Given the description of an element on the screen output the (x, y) to click on. 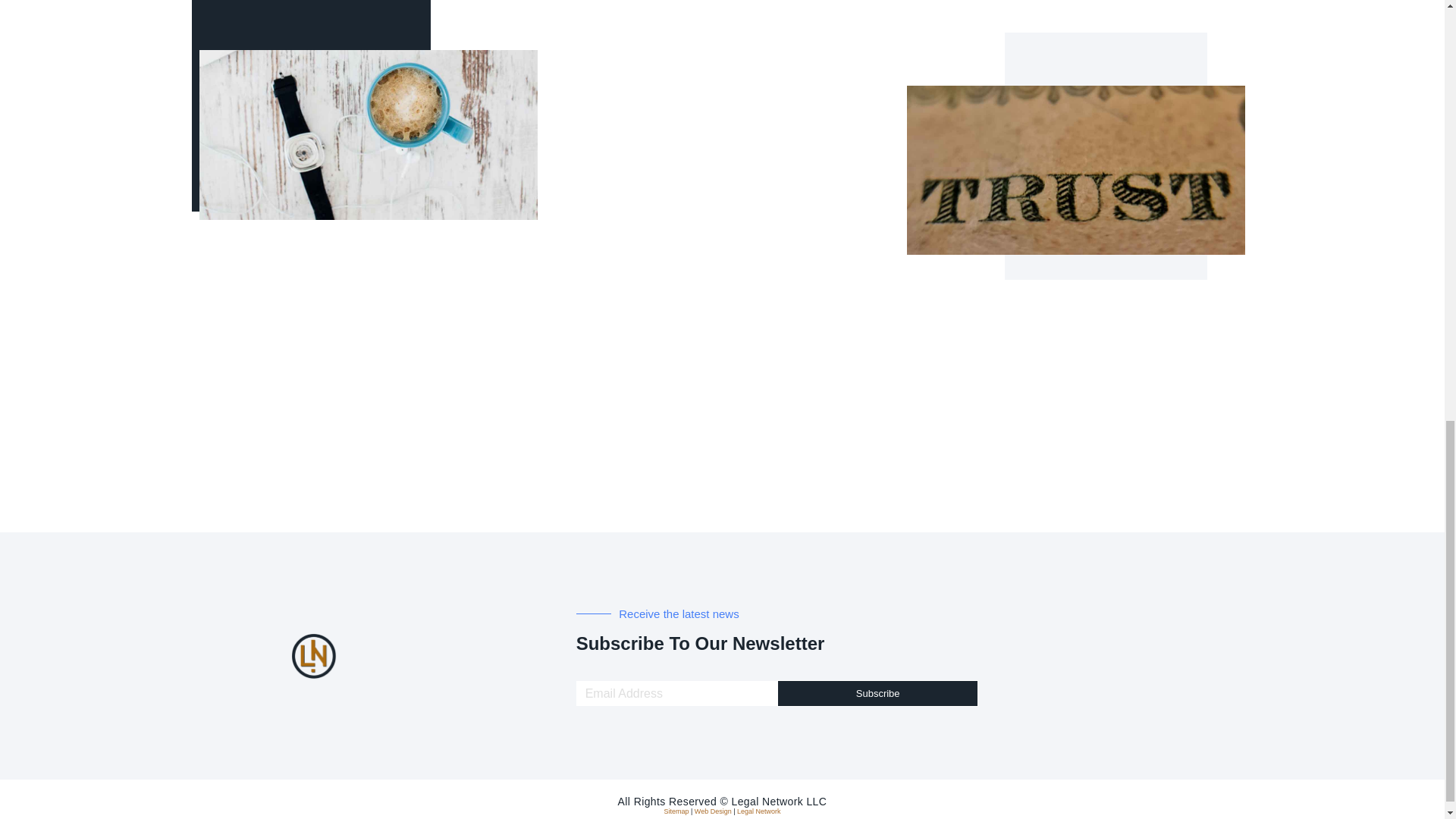
Legal Network LLC (778, 801)
Subscribe (877, 693)
Web Design (713, 810)
Sitemap (675, 810)
Legal Network (758, 810)
